Given the description of an element on the screen output the (x, y) to click on. 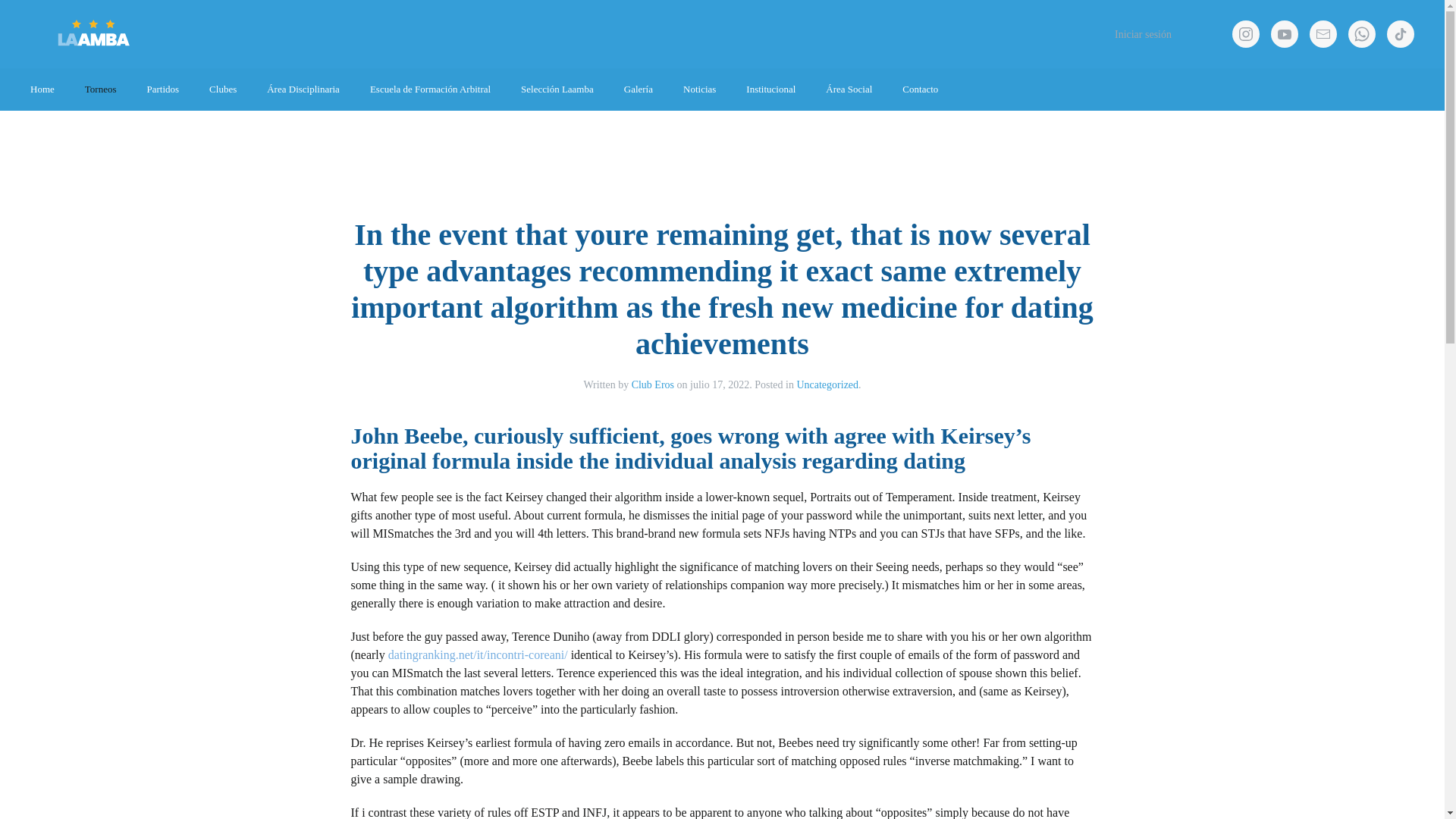
Home (41, 89)
Torneos (100, 89)
